Given the description of an element on the screen output the (x, y) to click on. 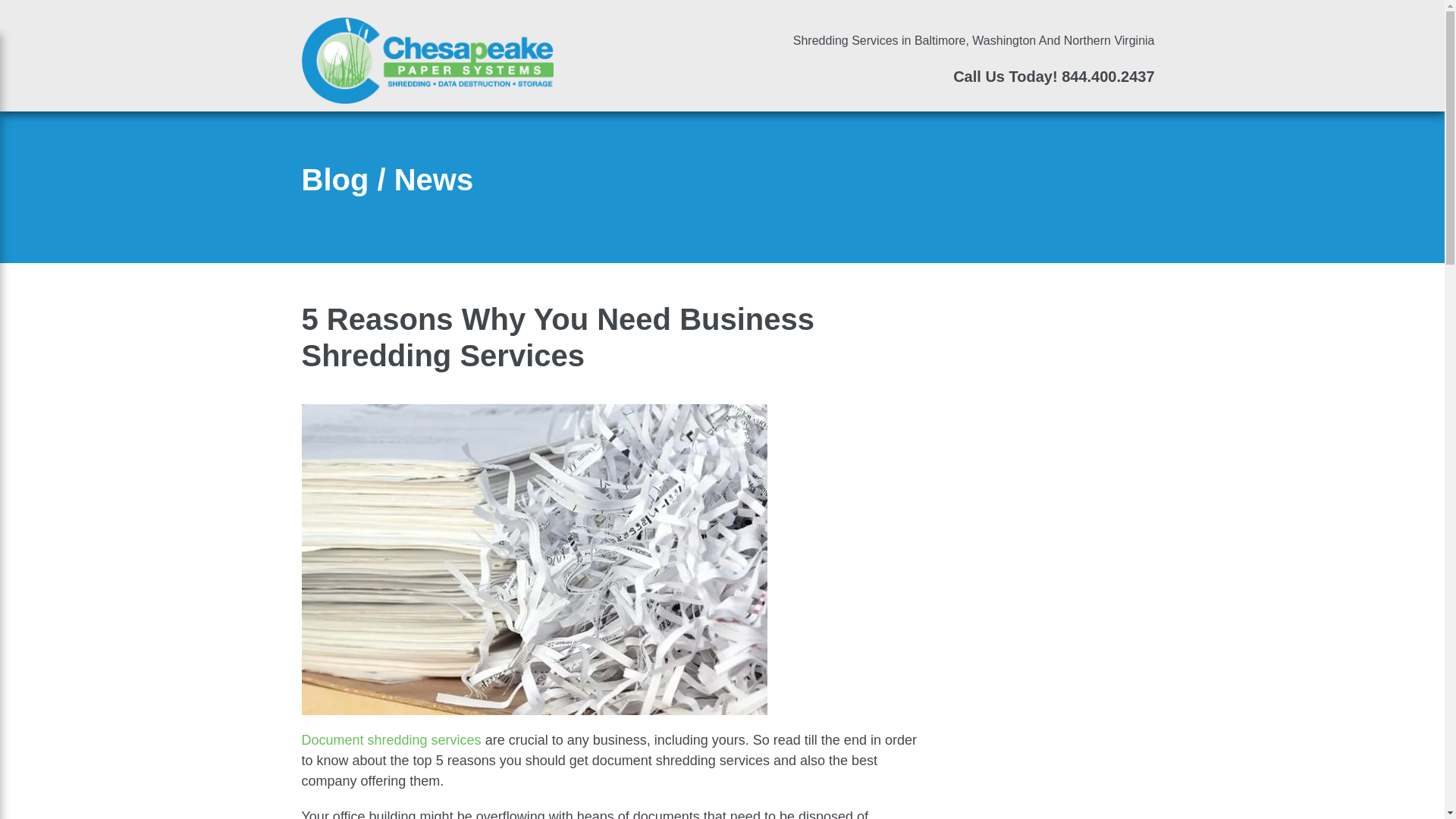
844.400.2437 (1107, 76)
Document shredding services (391, 739)
